Given the description of an element on the screen output the (x, y) to click on. 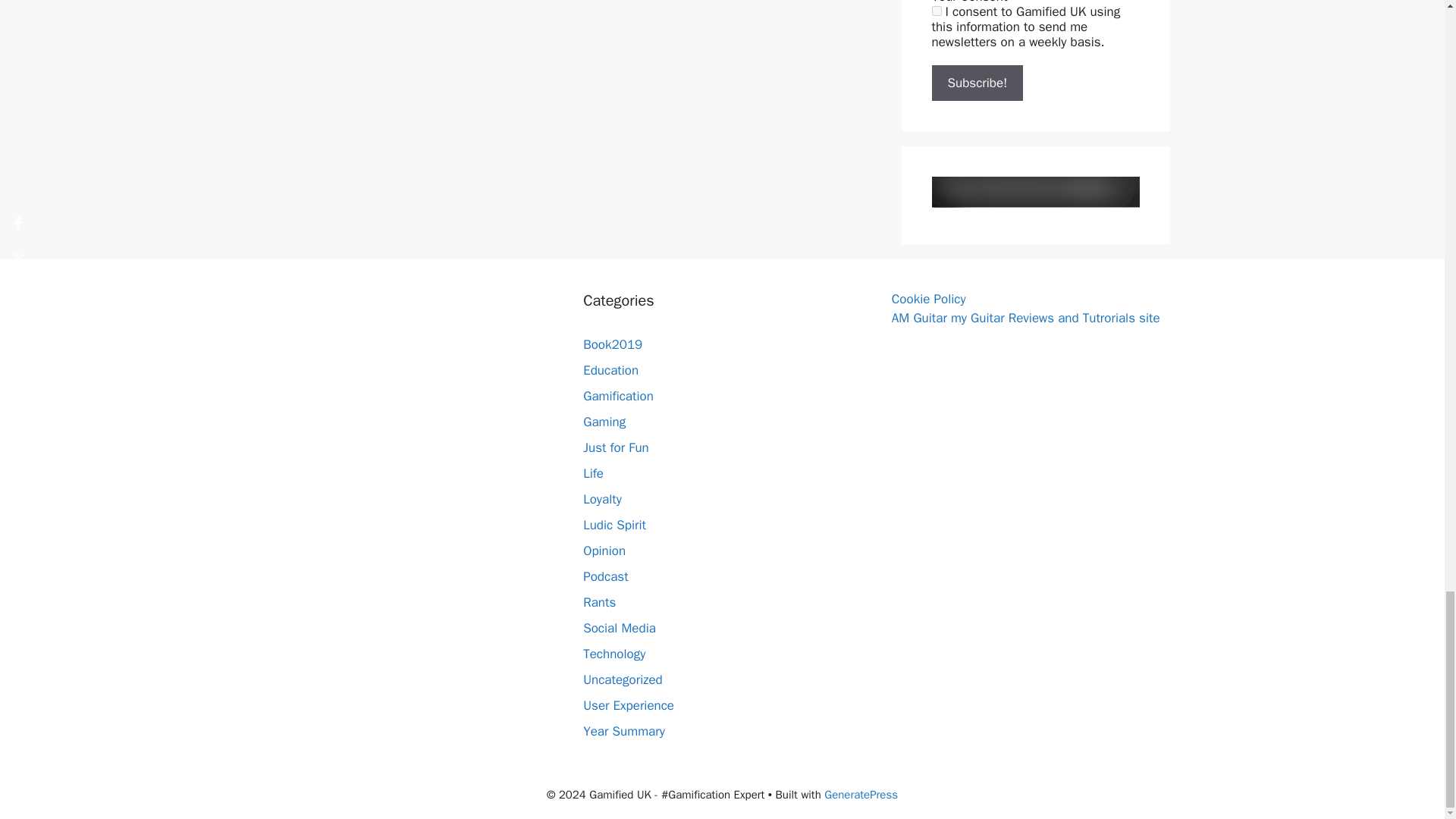
Subscribe! (977, 83)
1 (935, 10)
